Given the description of an element on the screen output the (x, y) to click on. 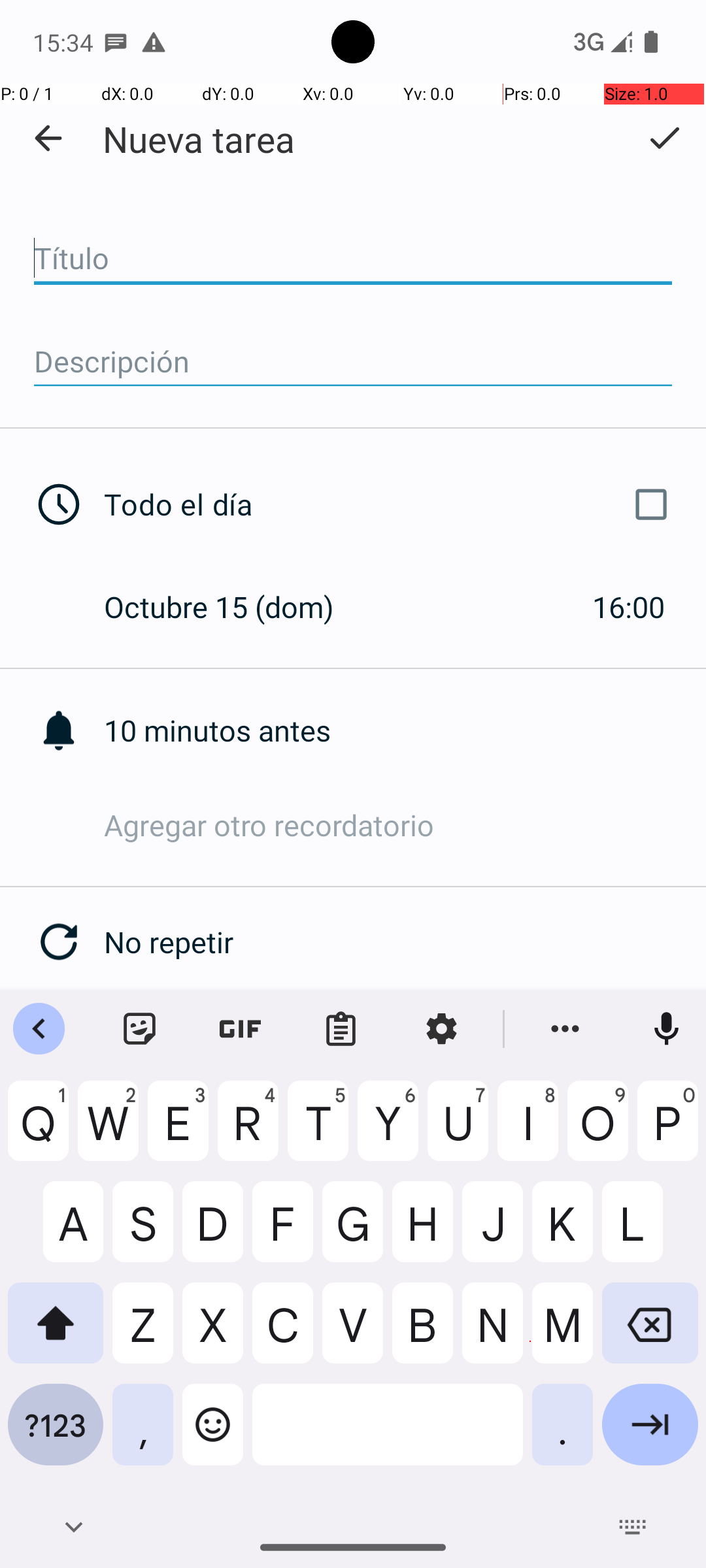
Nueva tarea Element type: android.widget.TextView (198, 138)
Guardar Element type: android.widget.Button (664, 137)
Título Element type: android.widget.EditText (352, 258)
Descripción Element type: android.widget.EditText (352, 361)
Octubre 15 (dom) Element type: android.widget.TextView (232, 606)
16:00 Element type: android.widget.TextView (628, 606)
10 minutos antes Element type: android.widget.TextView (404, 729)
Agregar otro recordatorio Element type: android.widget.TextView (404, 824)
No repetir Element type: android.widget.TextView (404, 941)
Todo el día Element type: android.widget.CheckBox (390, 504)
